Given the description of an element on the screen output the (x, y) to click on. 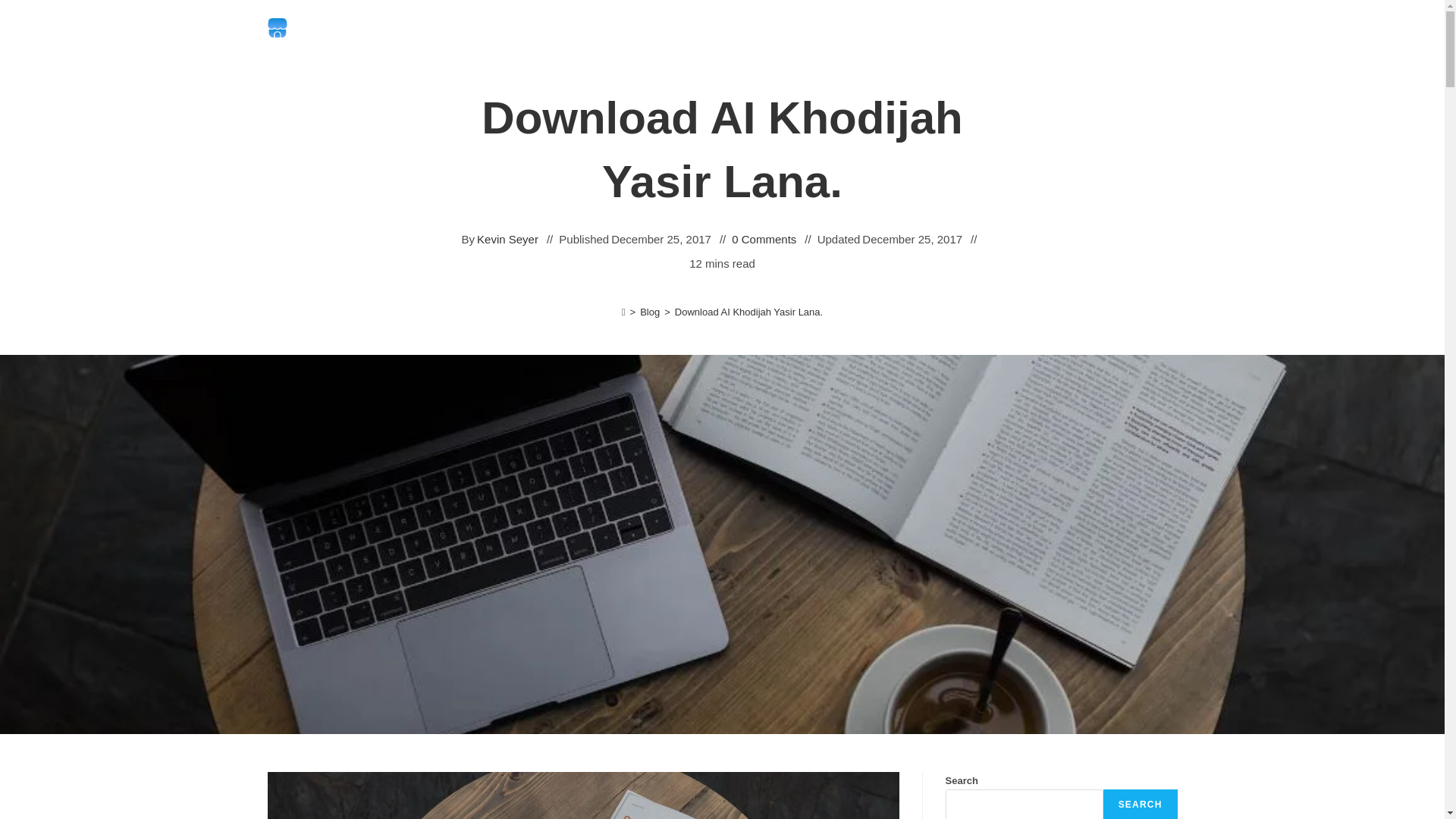
Kevin Seyer (507, 239)
0 Comments (764, 239)
Download AI Khodijah Yasir Lana. (748, 311)
Blog (649, 311)
